Given the description of an element on the screen output the (x, y) to click on. 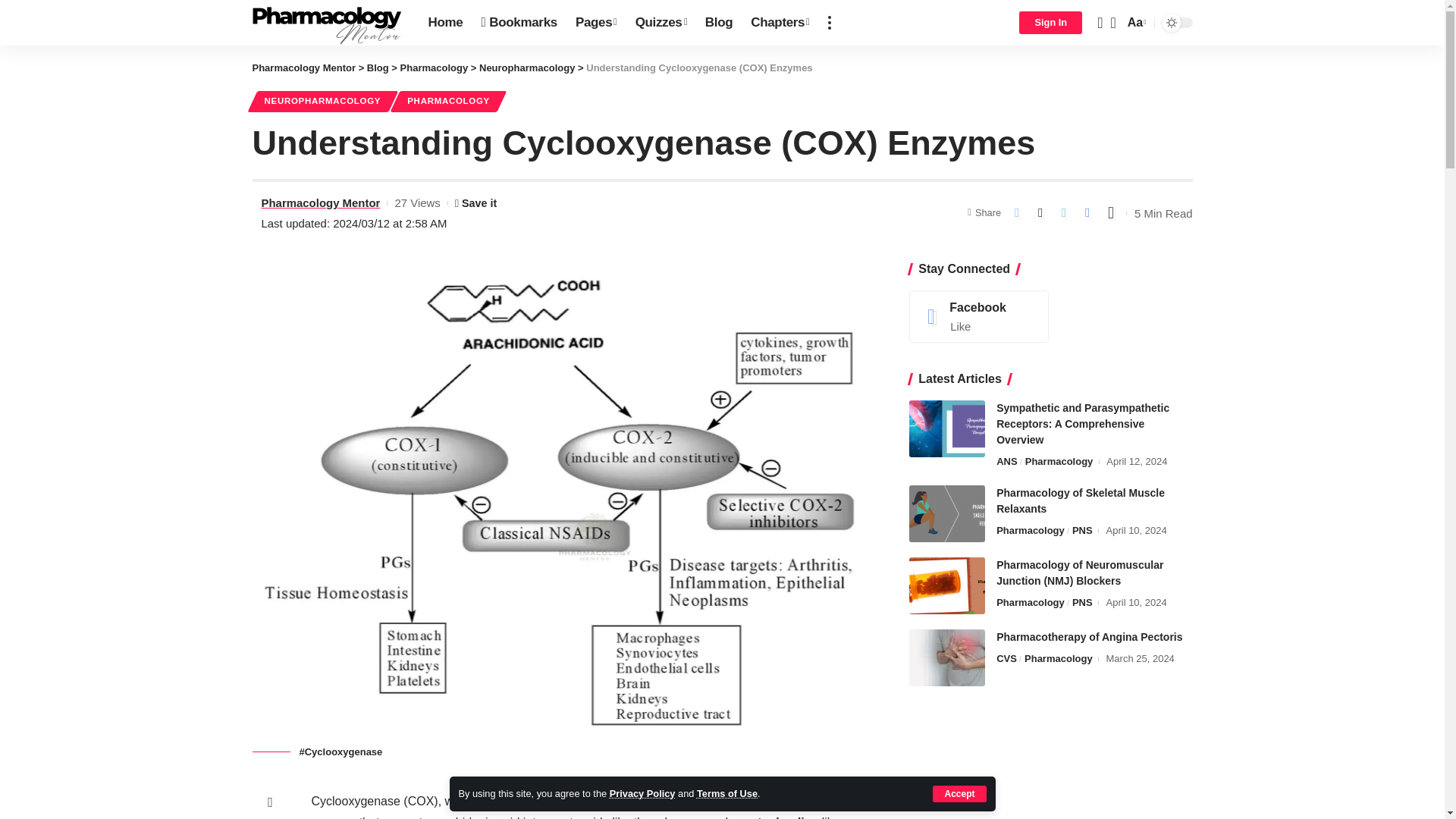
Bookmarks (518, 22)
Accept (959, 793)
Go to the Neuropharmacology Category archives. (527, 67)
Go to the Pharmacology Category archives. (434, 67)
Chapters (779, 22)
Pharmacology of Skeletal Muscle Relaxants (946, 513)
Terms of Use (727, 793)
Pharmacotherapy of Angina Pectoris (946, 657)
Privacy Policy (642, 793)
Home (445, 22)
Go to Pharmacology Mentor. (303, 67)
Blog (718, 22)
Go to Blog. (377, 67)
Pages (596, 22)
